Given the description of an element on the screen output the (x, y) to click on. 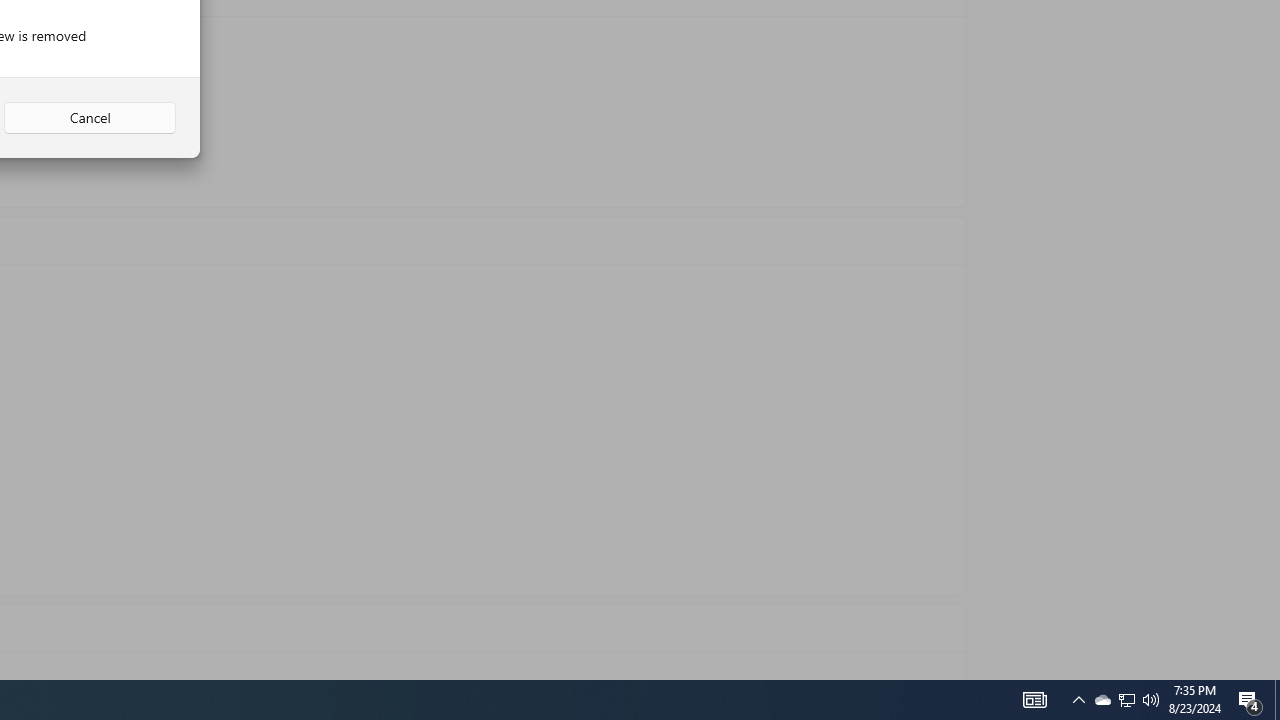
Cancel (89, 117)
